Given the description of an element on the screen output the (x, y) to click on. 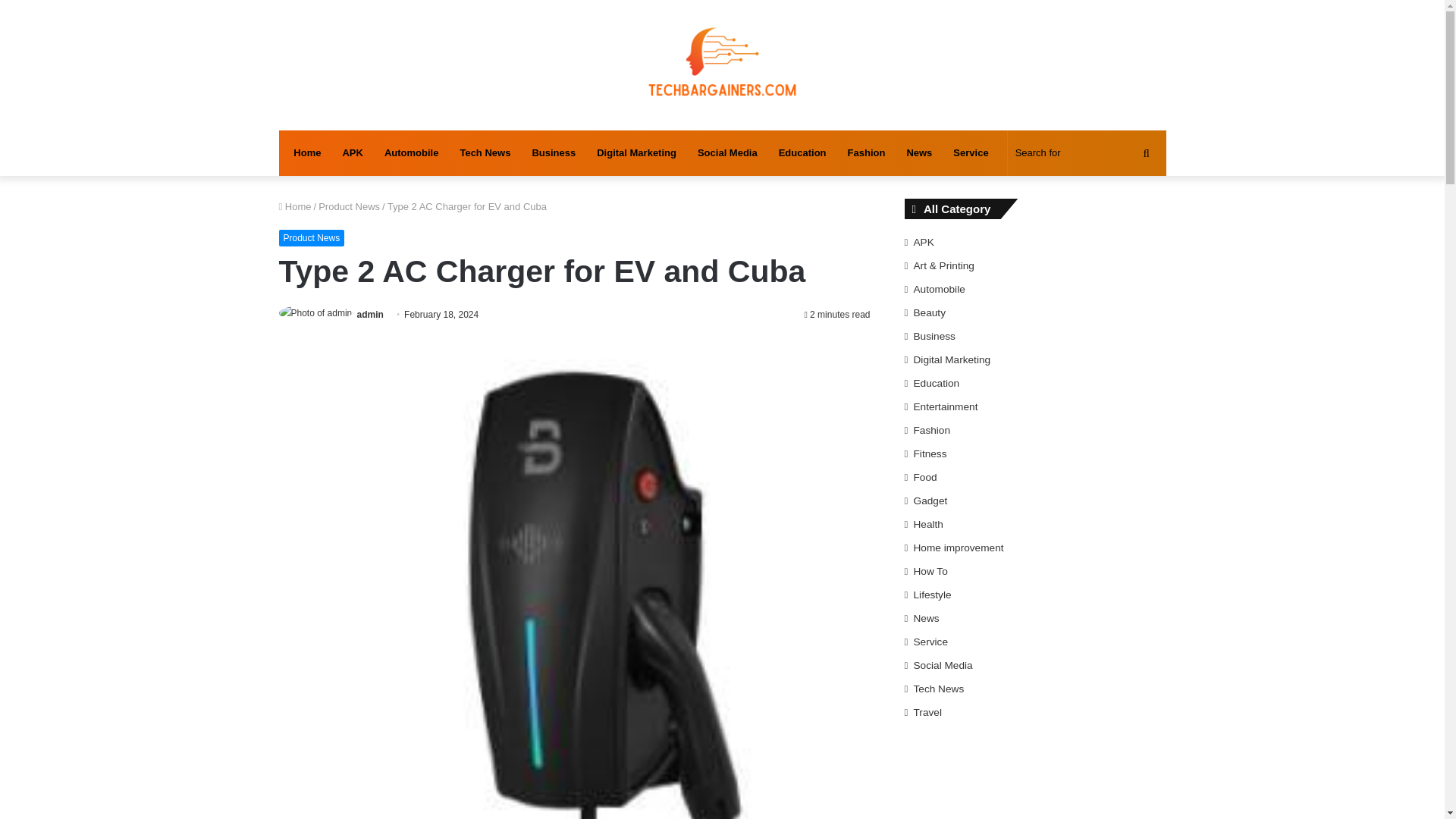
Tech News (484, 153)
Social Media (727, 153)
Business (553, 153)
Digital Marketing (636, 153)
Techbargainers.com (721, 64)
APK (351, 153)
News (918, 153)
Automobile (411, 153)
admin (370, 314)
Product News (312, 238)
Product News (349, 206)
Education (802, 153)
Service (970, 153)
Search for (1084, 153)
admin (370, 314)
